Given the description of an element on the screen output the (x, y) to click on. 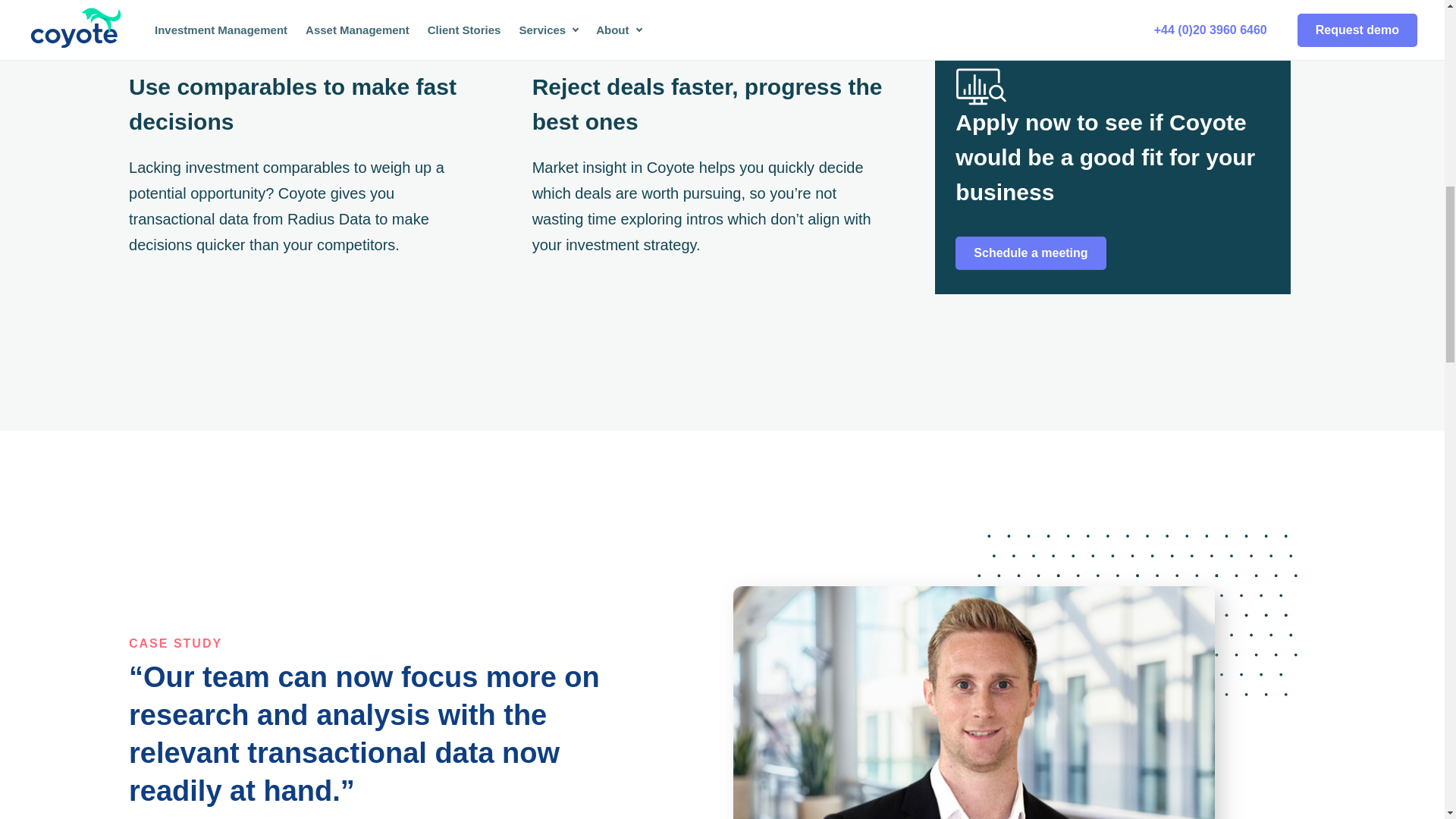
Schedule a meeting (1030, 253)
